Given the description of an element on the screen output the (x, y) to click on. 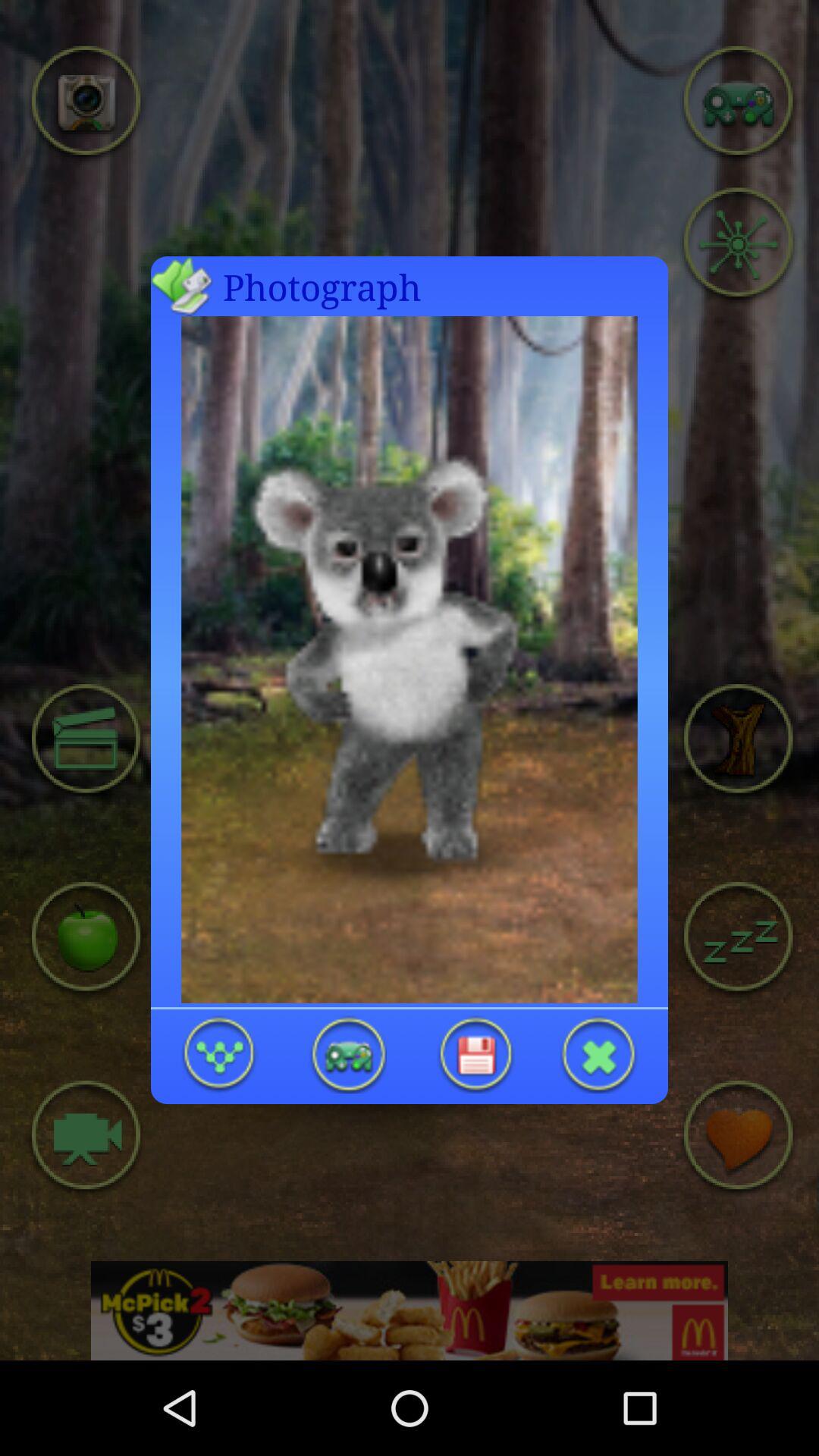
turn on icon at the bottom right corner (599, 1054)
